Given the description of an element on the screen output the (x, y) to click on. 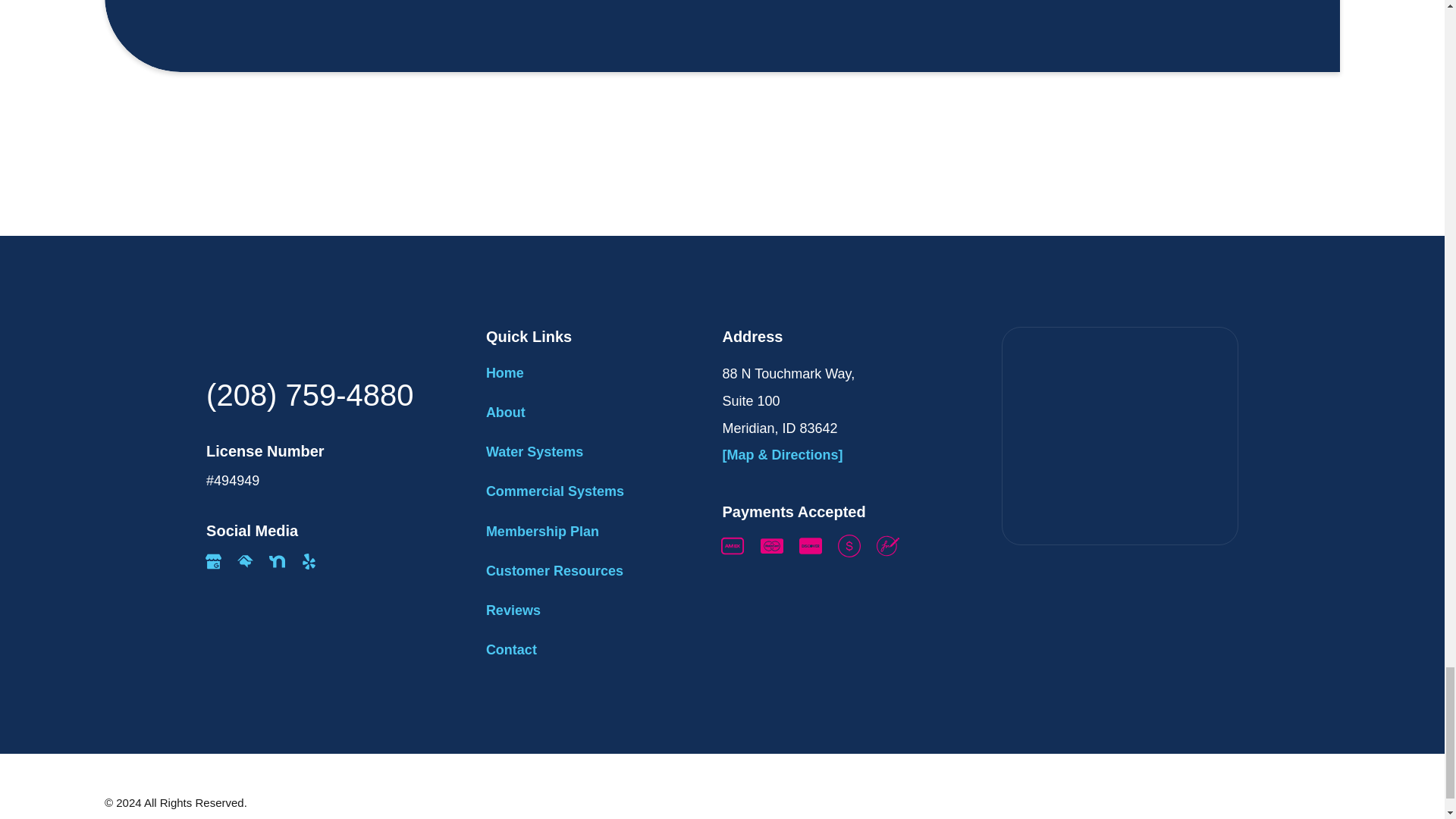
Nextdoor (277, 561)
Yelp (309, 561)
Cash (849, 545)
Google Business Profile (213, 561)
MasterCard (771, 545)
AMEX (732, 545)
HomeAdvisor (245, 561)
Discover (810, 545)
